Given the description of an element on the screen output the (x, y) to click on. 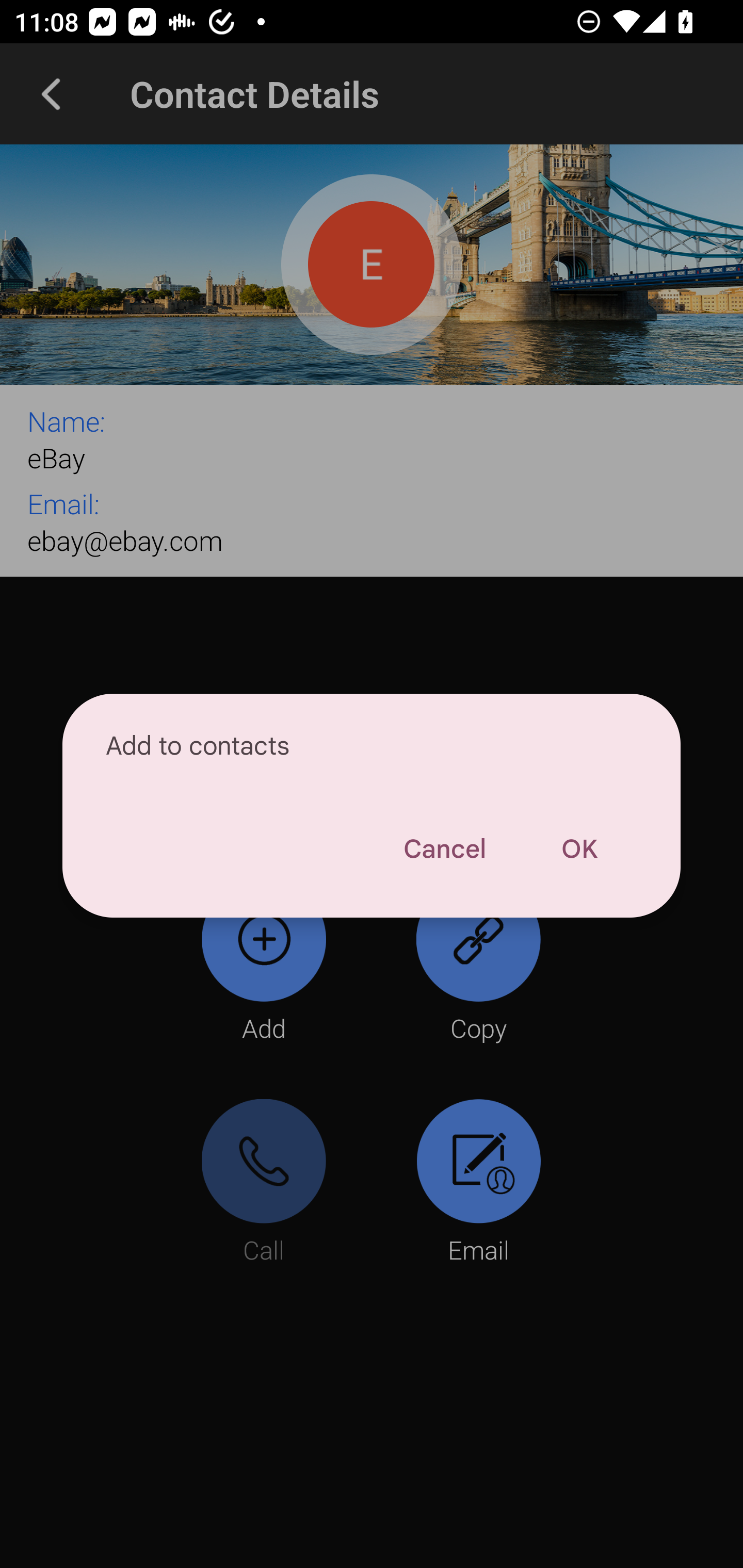
Cancel (444, 848)
OK (579, 848)
